Given the description of an element on the screen output the (x, y) to click on. 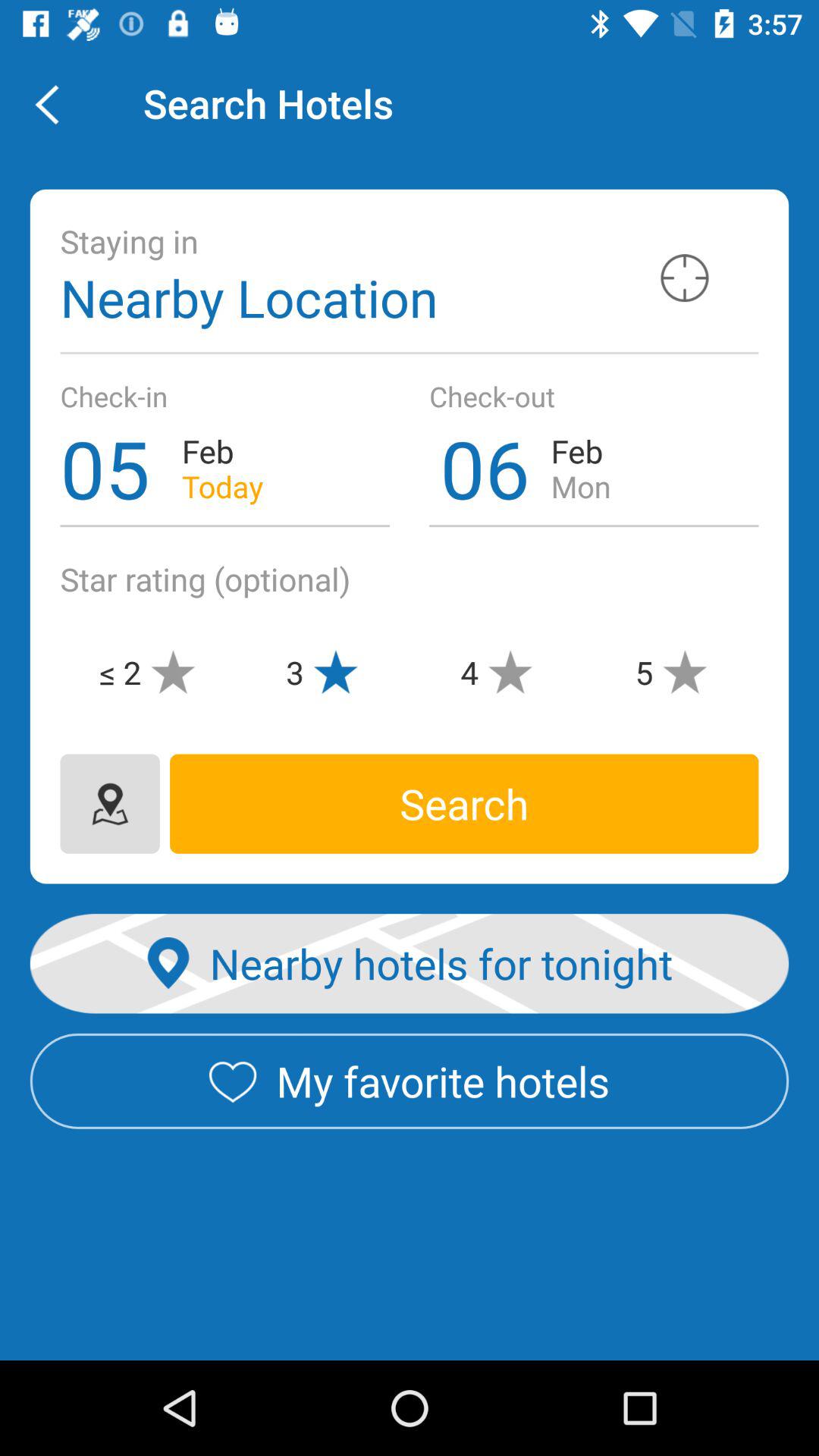
open map (109, 803)
